Given the description of an element on the screen output the (x, y) to click on. 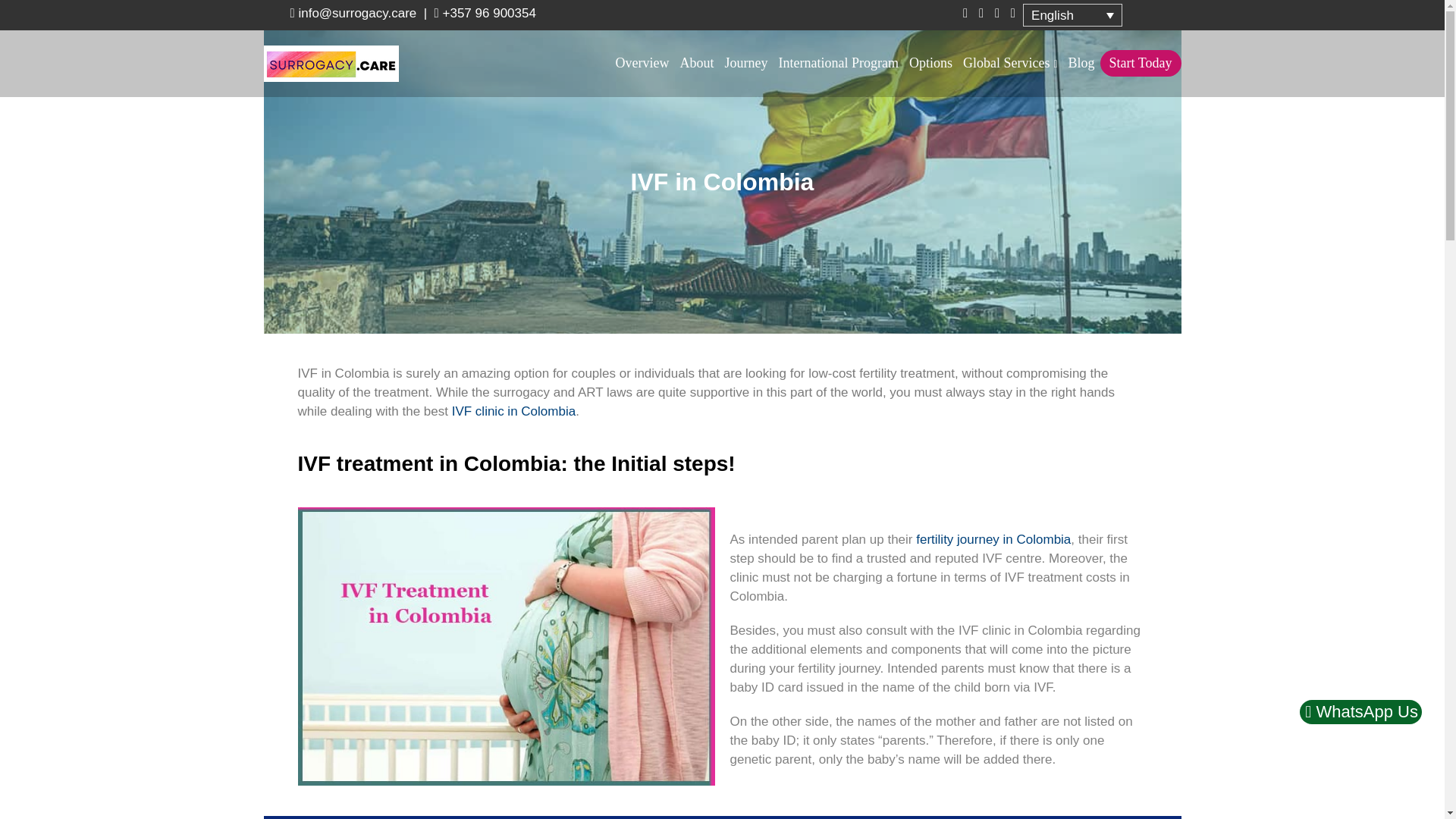
International Program (838, 62)
Overview (642, 62)
Journey (746, 62)
English (1072, 15)
Options (931, 62)
About (697, 62)
Global Services (1010, 63)
